Given the description of an element on the screen output the (x, y) to click on. 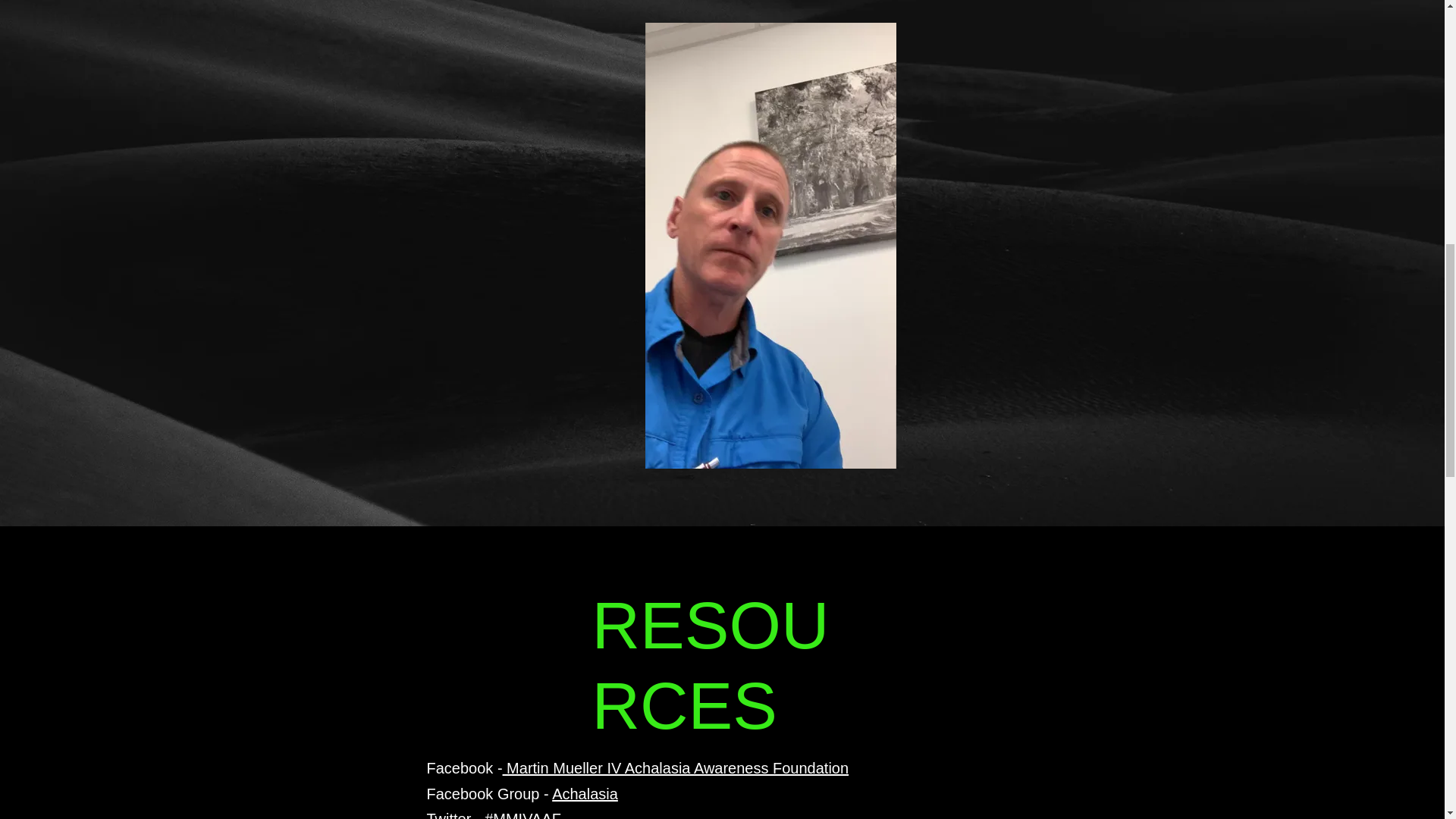
Martin Mueller IV Achalasia Awareness Foundation (675, 768)
Achalasia (584, 793)
